Given the description of an element on the screen output the (x, y) to click on. 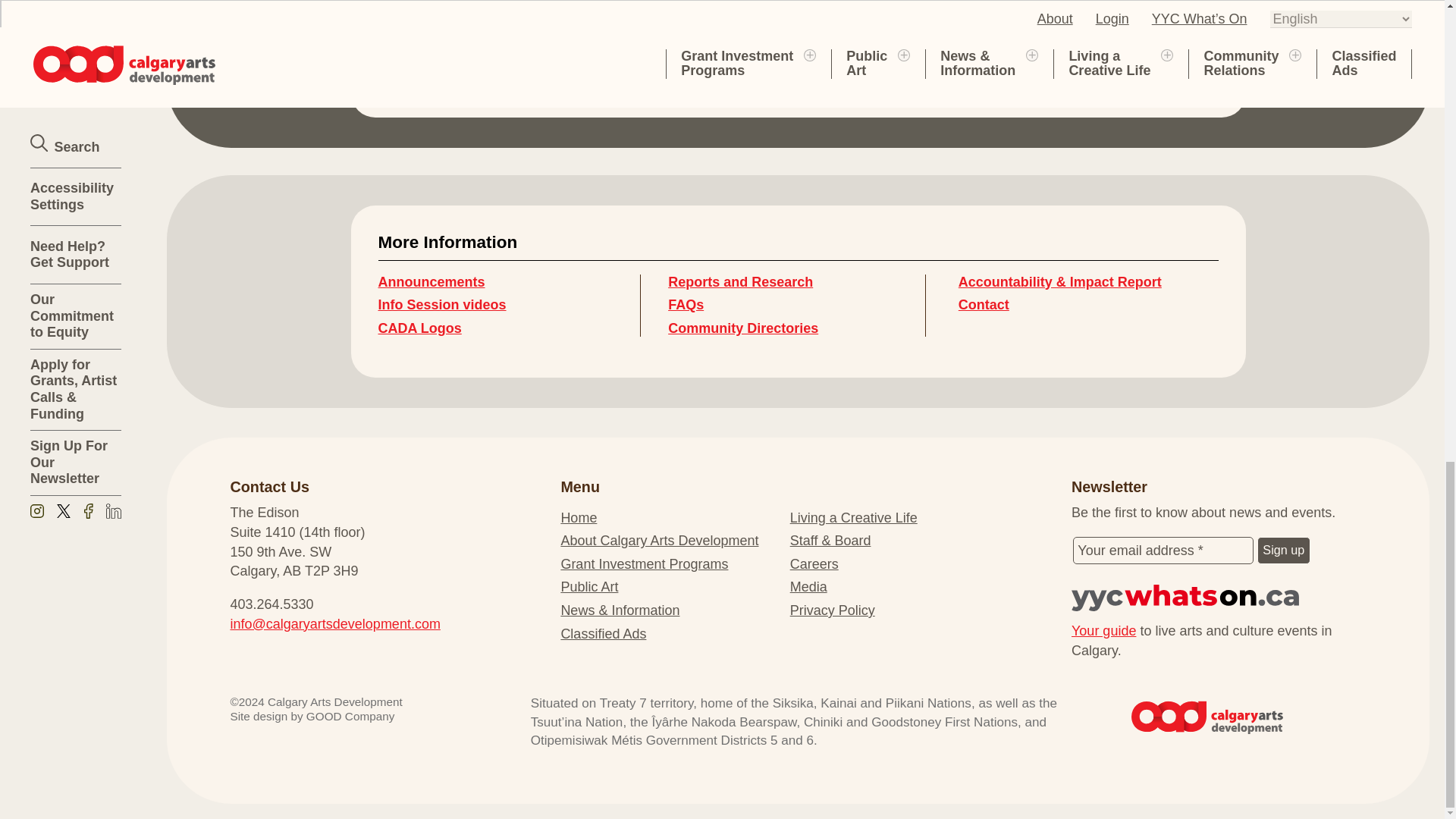
YYC What's On (1219, 597)
Download (484, 37)
